Given the description of an element on the screen output the (x, y) to click on. 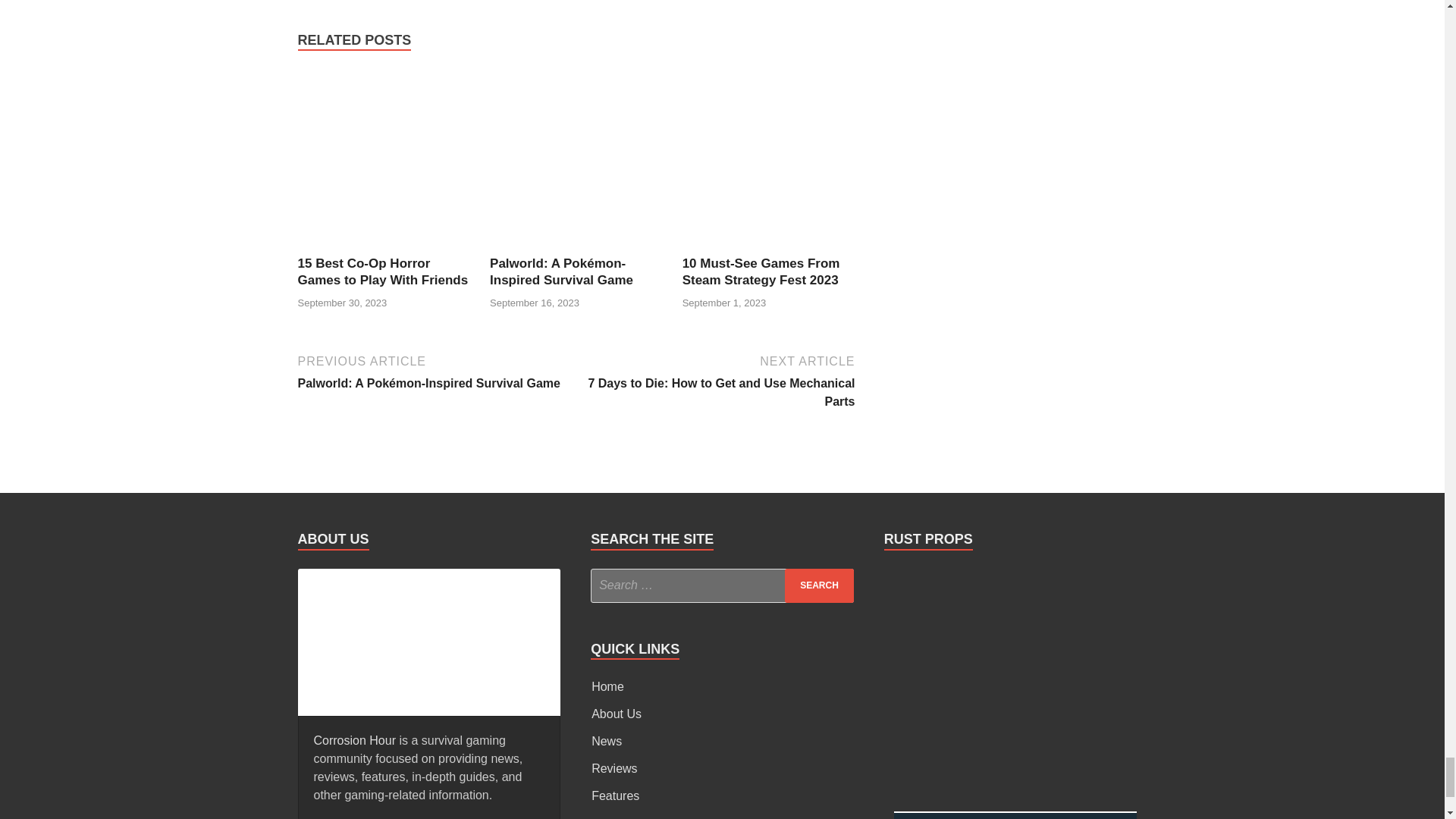
Search (818, 585)
10 Must-See Games From Steam Strategy Fest 2023 (761, 271)
15 Best Co-Op Horror Games to Play With Friends (382, 271)
Search (818, 585)
CorrosionHour (428, 639)
10 Must-See Games From Steam Strategy Fest 2023 (769, 245)
15 Best Co-Op Horror Games to Play With Friends (383, 245)
